Given the description of an element on the screen output the (x, y) to click on. 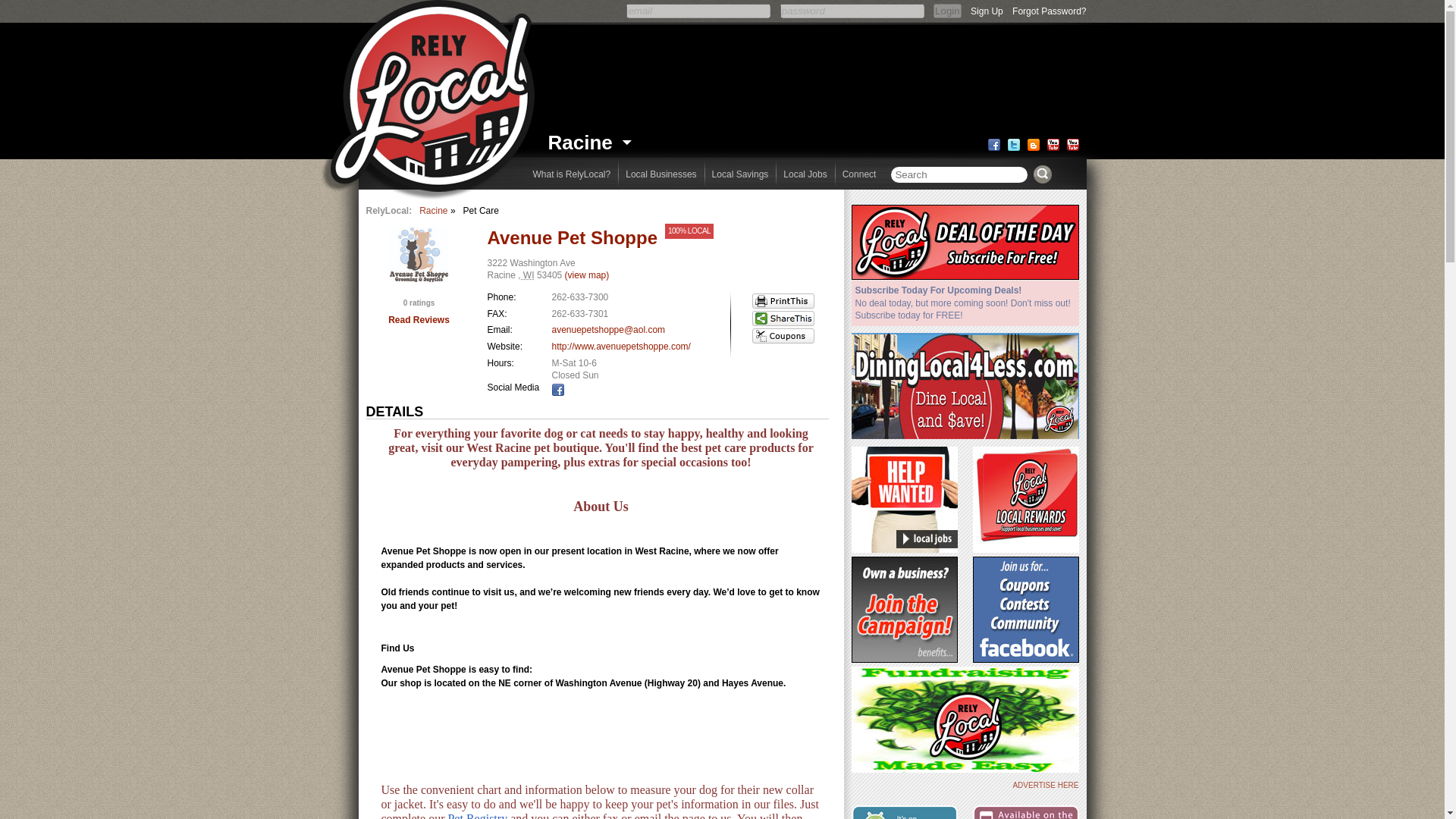
Go (1042, 174)
Login (946, 11)
Forgot Password? (1048, 8)
Local Businesses (660, 173)
Blog (1032, 144)
Facebook (557, 389)
Twitter (1013, 144)
YouTube Channel (1071, 144)
Twitter (1013, 144)
password (852, 11)
